Given the description of an element on the screen output the (x, y) to click on. 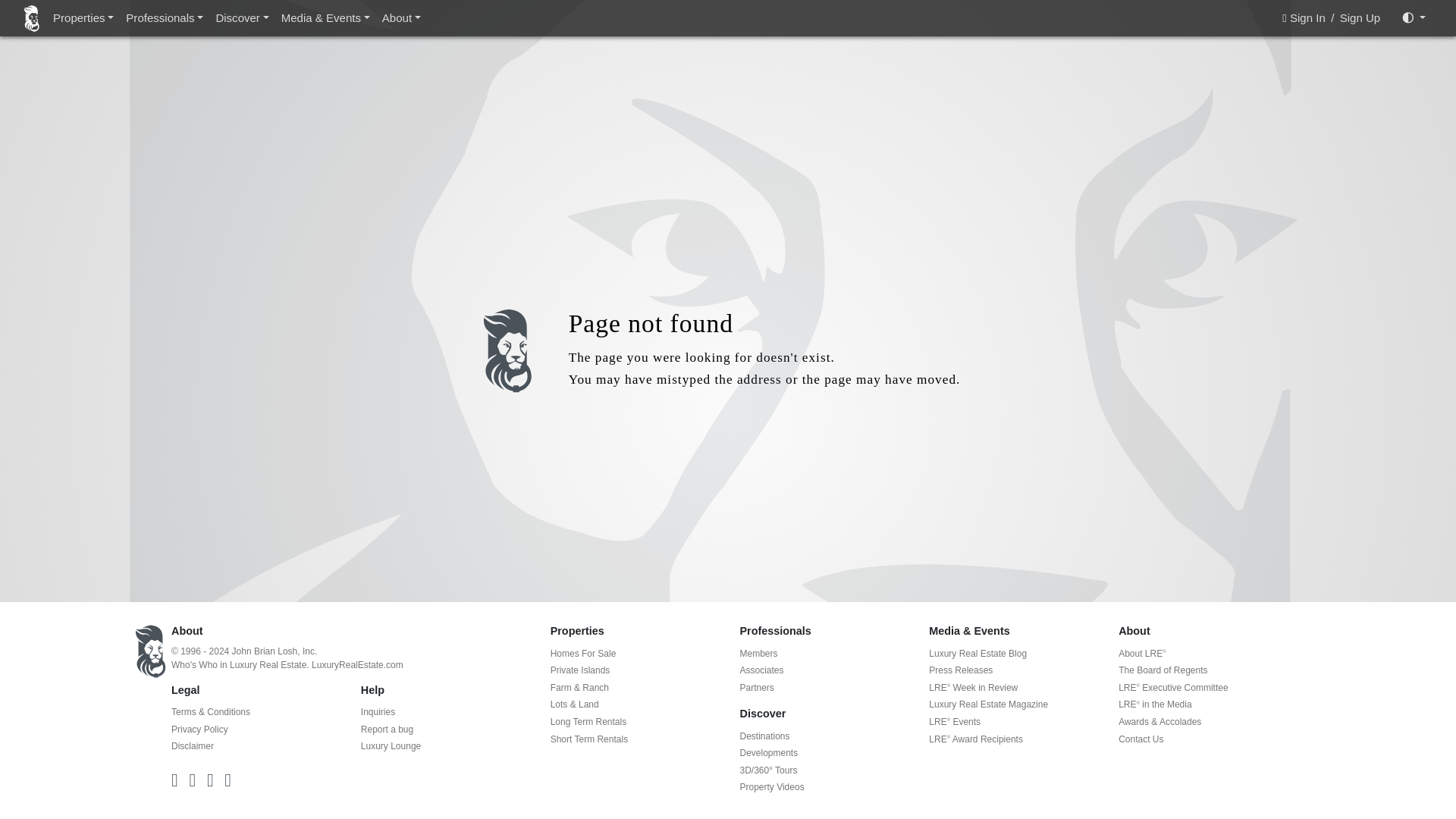
Properties (82, 18)
About (400, 18)
Discover (242, 18)
Professionals (164, 18)
Sign In (1305, 17)
Sign Up (1359, 17)
Inquiries (377, 711)
Privacy Policy (199, 728)
Disclaimer (192, 746)
